Given the description of an element on the screen output the (x, y) to click on. 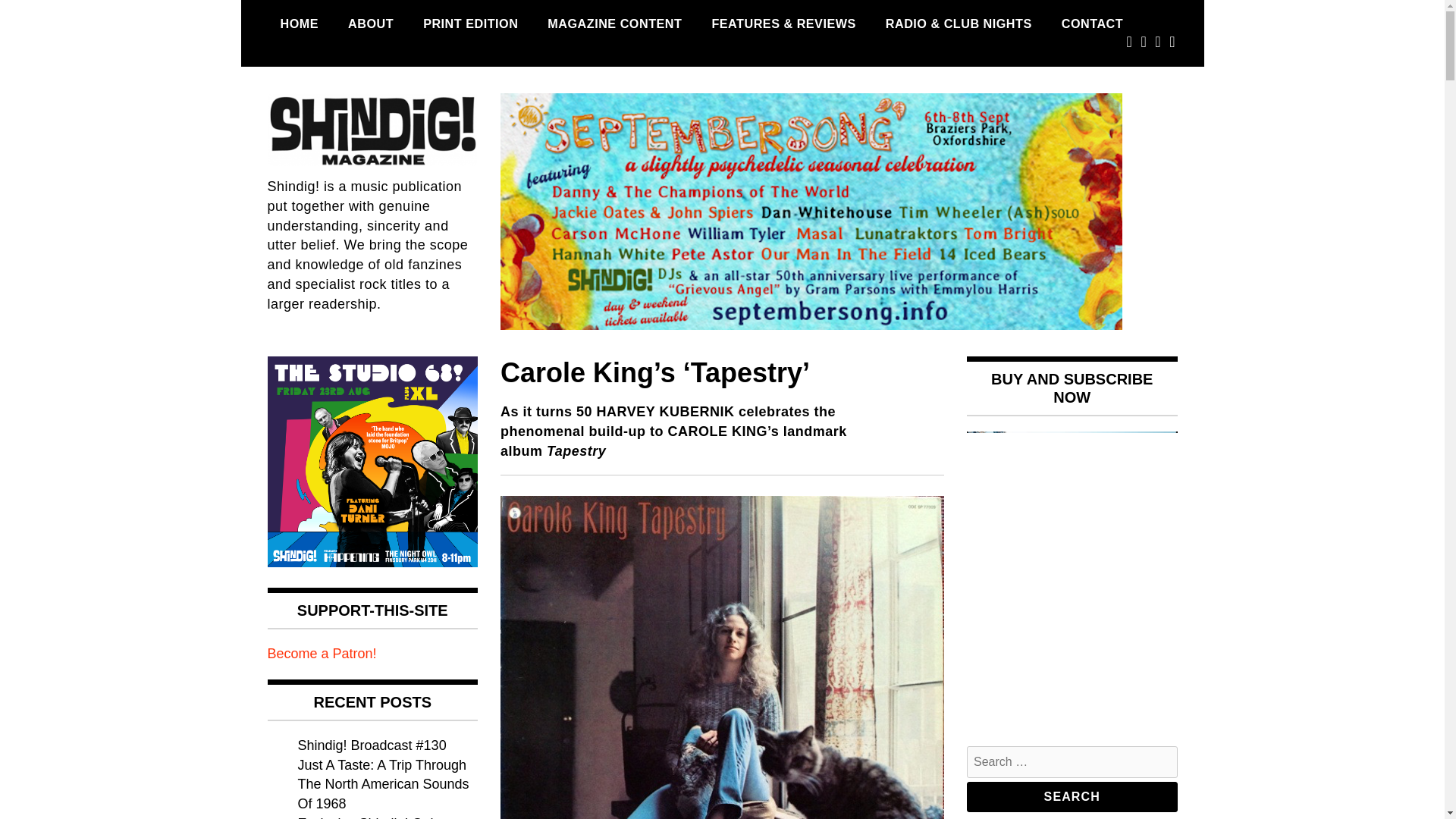
ABOUT (370, 23)
Become a Patron! (320, 653)
PRINT EDITION (470, 23)
HOME (298, 23)
Web only content (783, 23)
How to get in touch. (1091, 23)
MAGAZINE CONTENT (614, 23)
CONTACT (1091, 23)
Please order via desktop computers and not mobile devices (470, 23)
Search (1071, 797)
Search (1071, 797)
The Shindig! Story (370, 23)
Everything on the site, starting with the most recent post. (298, 23)
